Given the description of an element on the screen output the (x, y) to click on. 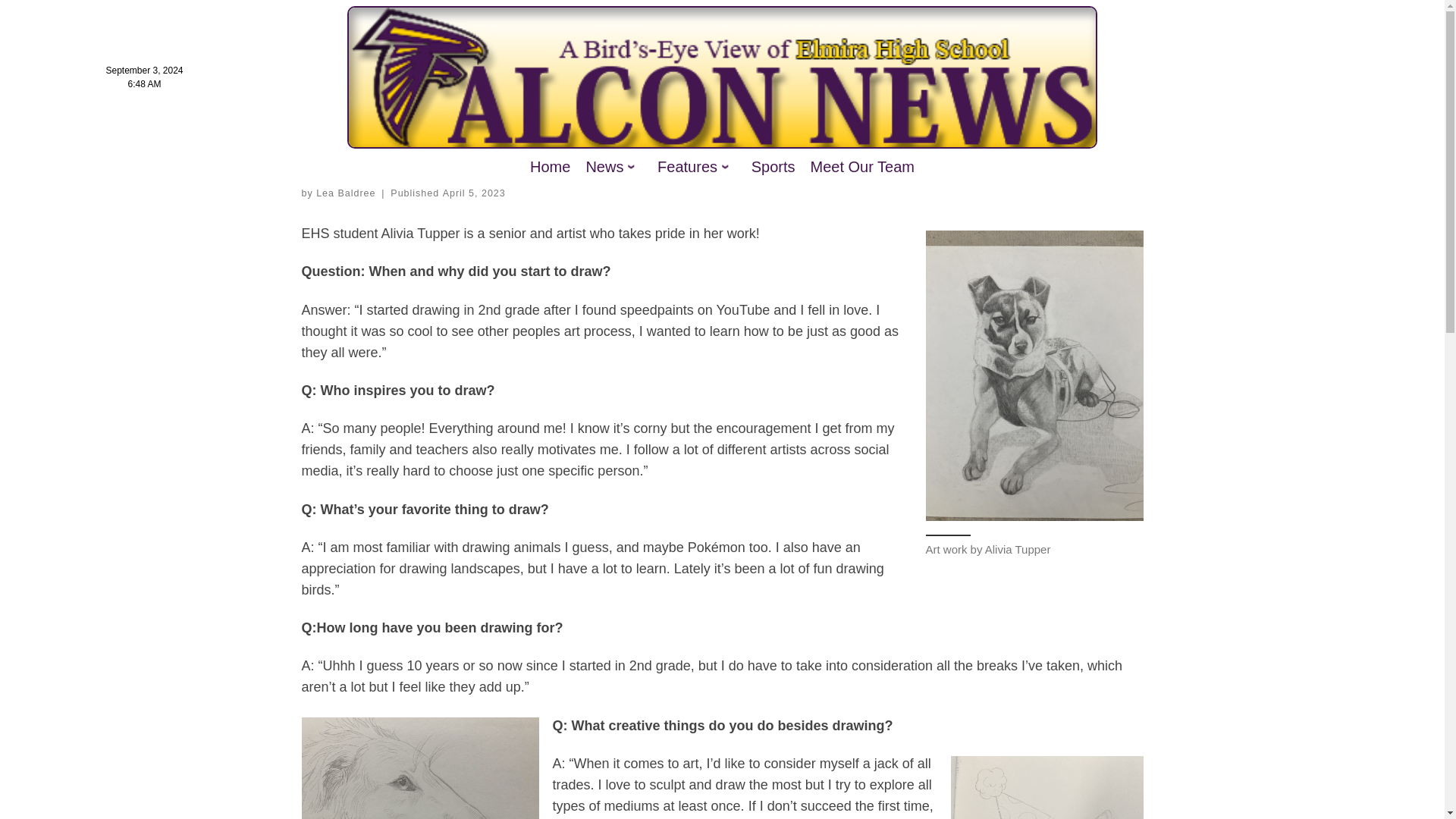
News (613, 166)
Sports (773, 166)
Lea Baldree (345, 193)
Meet Our Team (862, 166)
Features (696, 166)
Home (549, 166)
header-falconnews-004 (721, 76)
April 5, 2023 (473, 193)
View all posts by Lea Baldree (345, 193)
